Given the description of an element on the screen output the (x, y) to click on. 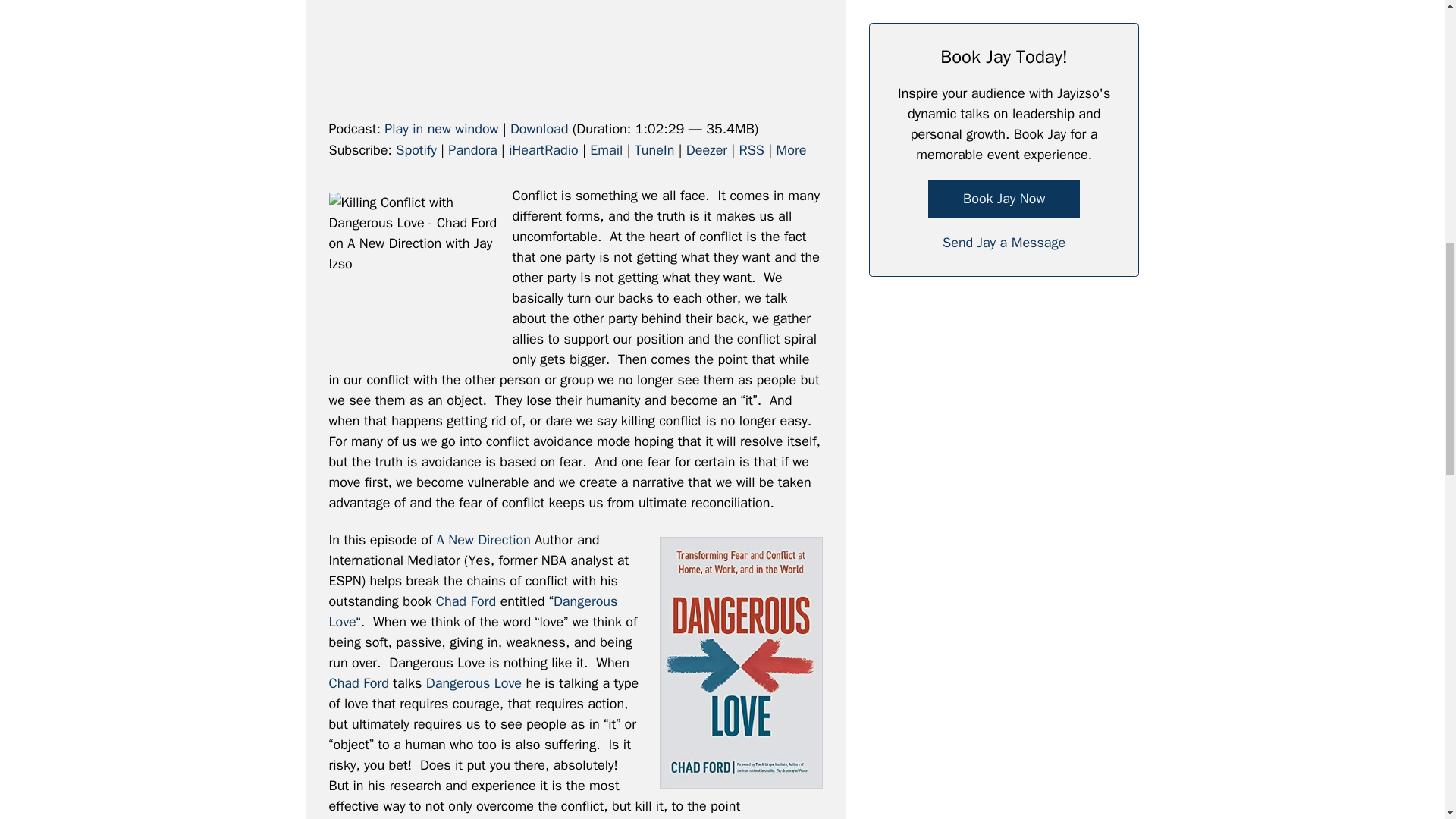
Subscribe on iHeartRadio (543, 149)
Subscribe on Spotify (416, 149)
Subscribe on Pandora (472, 149)
Subscribe on Deezer (705, 149)
Subscribe by Email (606, 149)
Play in new window (440, 128)
Subscribe via RSS (751, 149)
Blubrry Podcast Player (575, 52)
More (791, 149)
Download (540, 128)
Subscribe on TuneIn (654, 149)
